Given the description of an element on the screen output the (x, y) to click on. 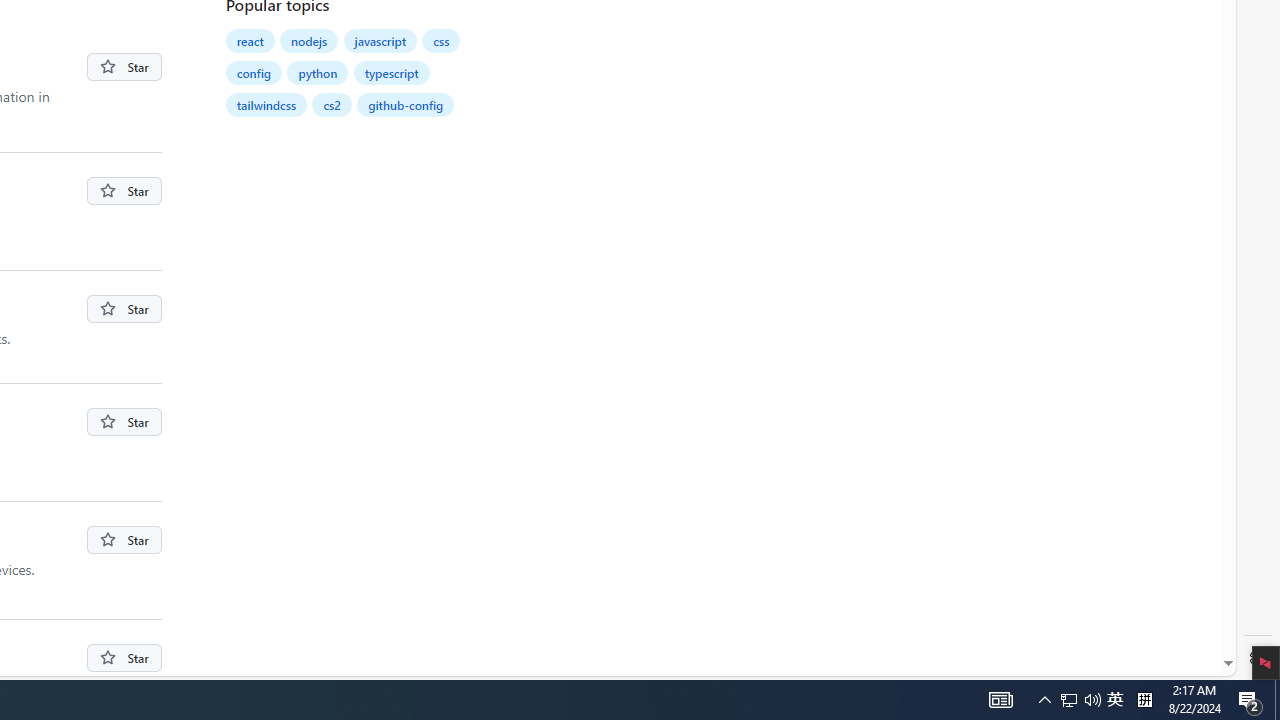
cs2 (333, 104)
typescript (391, 72)
typescript (392, 72)
github-config (405, 104)
config (254, 72)
tailwindcss (266, 104)
